Given the description of an element on the screen output the (x, y) to click on. 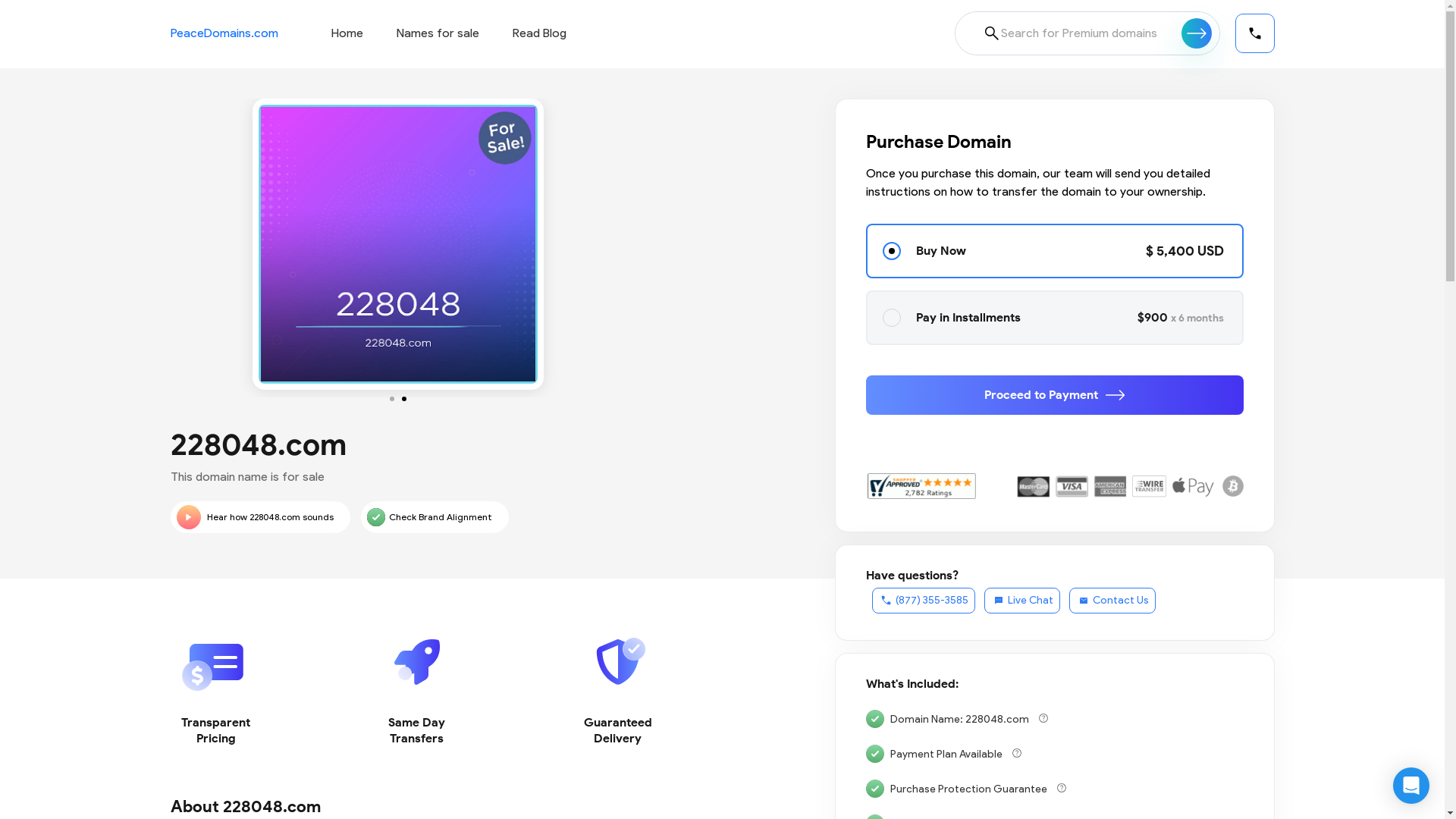
PeaceDomains.com Element type: text (223, 33)
Buy Now
$ 5,400 USD Element type: text (1054, 250)
Hear how 228048.com sounds Element type: text (259, 517)
Check Brand Alignment Element type: text (434, 517)
(877) 355-3585 Element type: text (923, 600)
Live Chat Element type: text (1022, 600)
Names for sale Element type: text (436, 33)
Proceed to Payment Element type: text (1054, 394)
Home Element type: text (346, 33)
Contact Us Element type: text (1112, 600)
Read Blog Element type: text (539, 33)
